Given the description of an element on the screen output the (x, y) to click on. 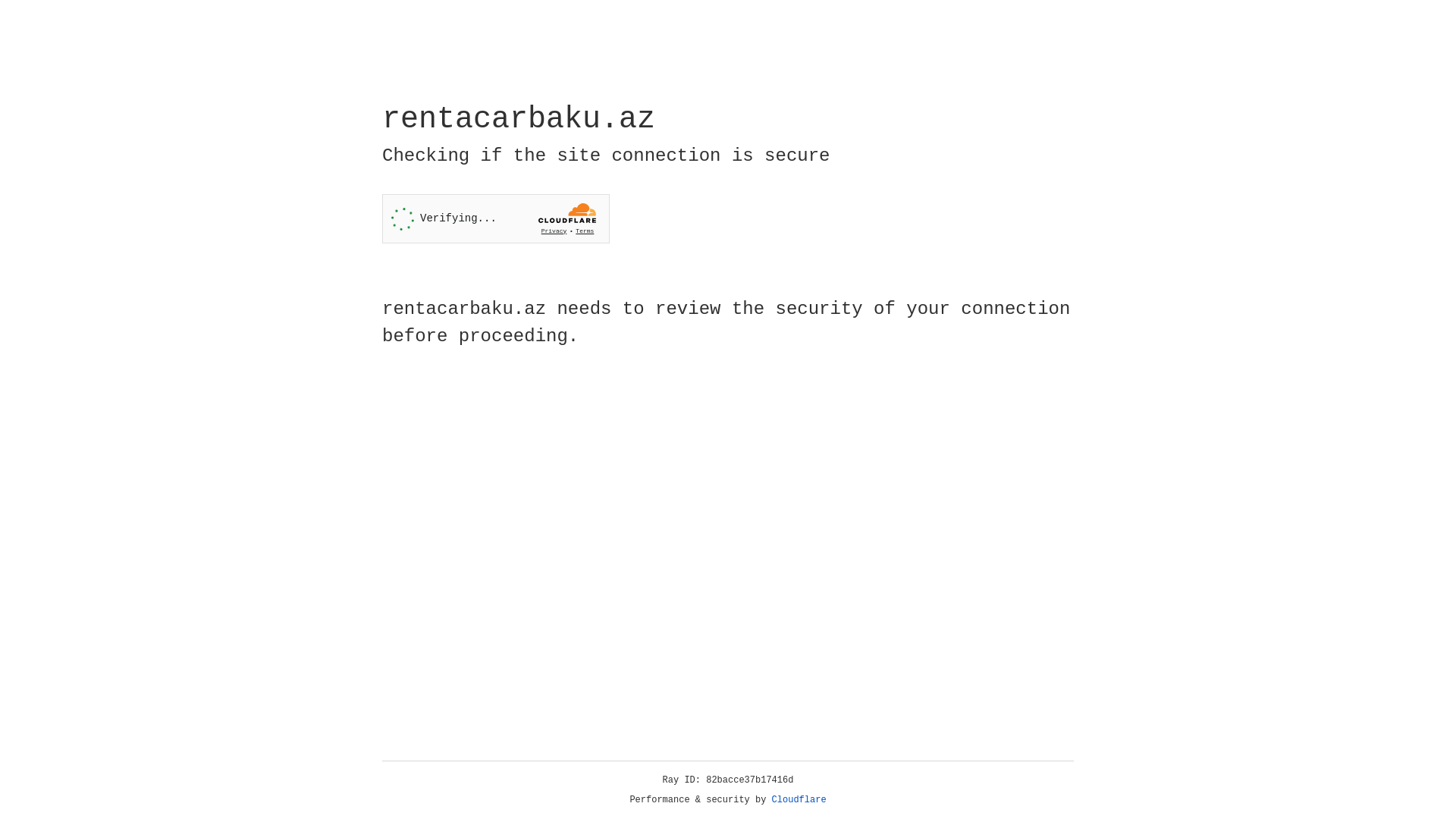
Cloudflare Element type: text (798, 799)
Widget containing a Cloudflare security challenge Element type: hover (495, 218)
